Given the description of an element on the screen output the (x, y) to click on. 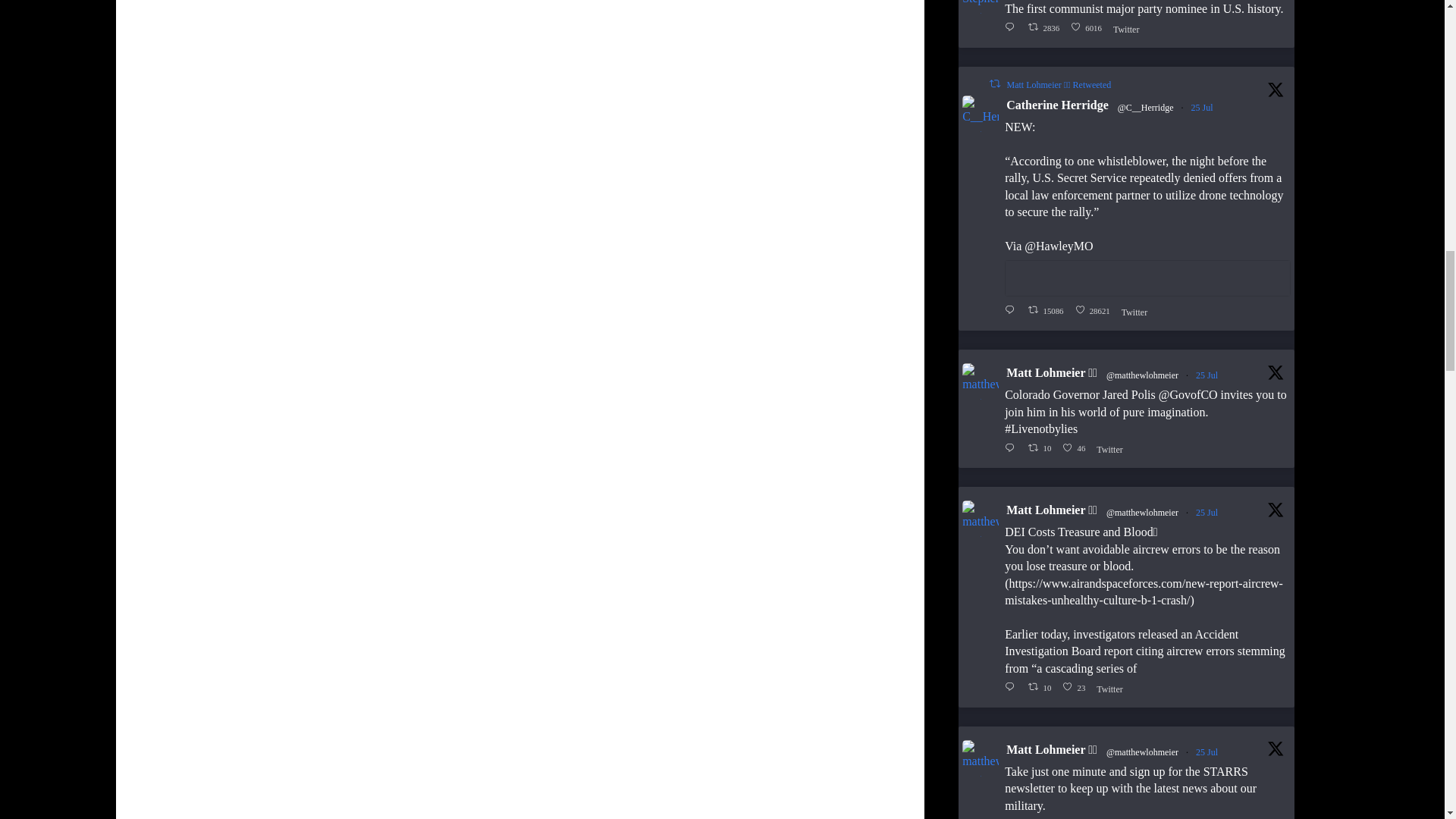
; (980, 6)
Retweet on Twitter (1046, 27)
Twitter 1816577247664541949 (1088, 27)
Reply on Twitter 1816577247664541949 (995, 83)
